Given the description of an element on the screen output the (x, y) to click on. 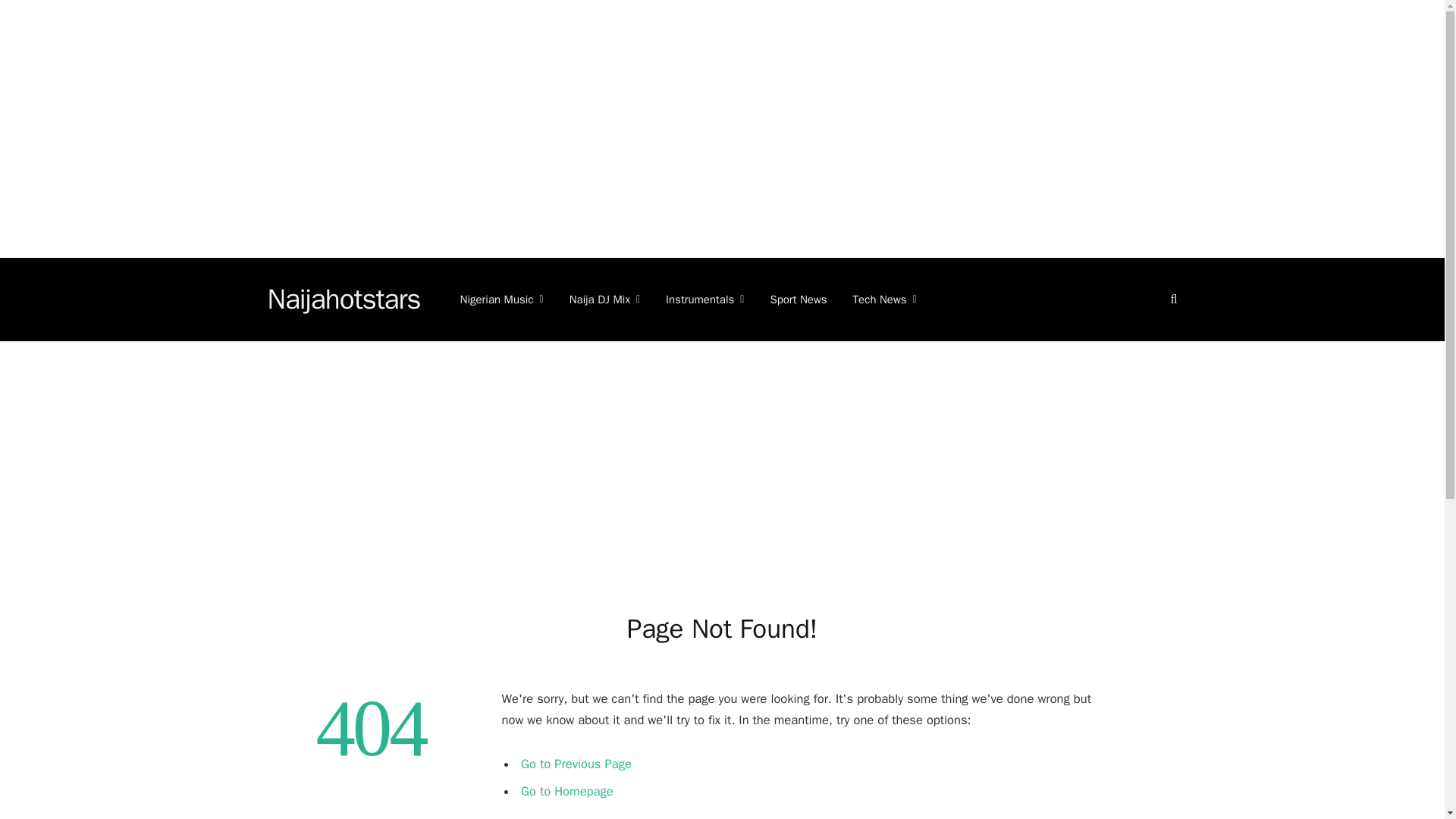
Naijahotstars (343, 299)
Search (1172, 298)
Naija DJ Mix (604, 299)
Instrumentals (704, 299)
Nigerian Music (501, 299)
Naijahotstars (343, 299)
Tech News (885, 299)
Sport News (798, 299)
Go to Homepage (566, 790)
Go to Previous Page (576, 763)
